Given the description of an element on the screen output the (x, y) to click on. 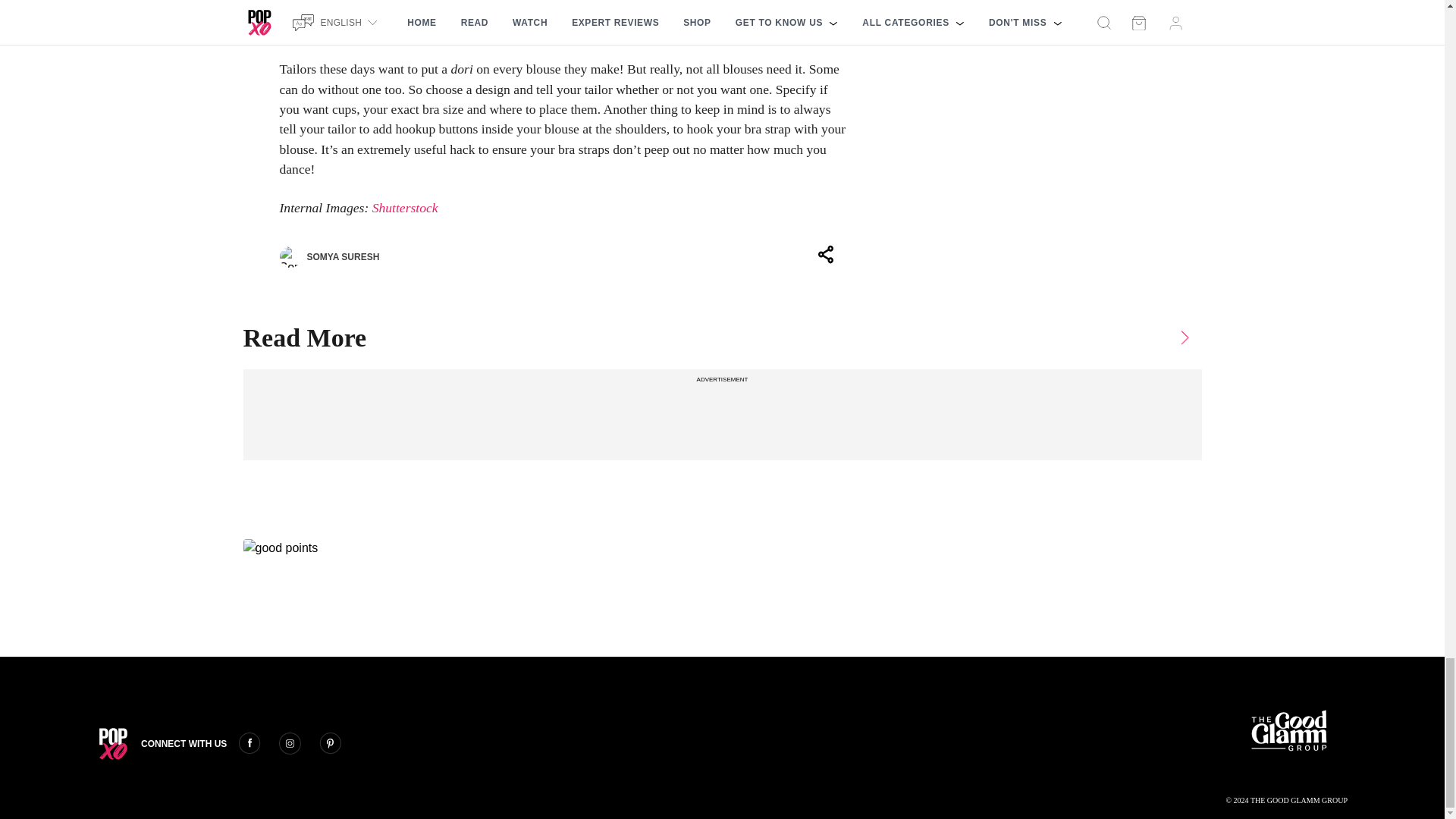
Somya Suresh (289, 256)
Shutterstock (405, 207)
SOMYA SURESH (328, 256)
